Given the description of an element on the screen output the (x, y) to click on. 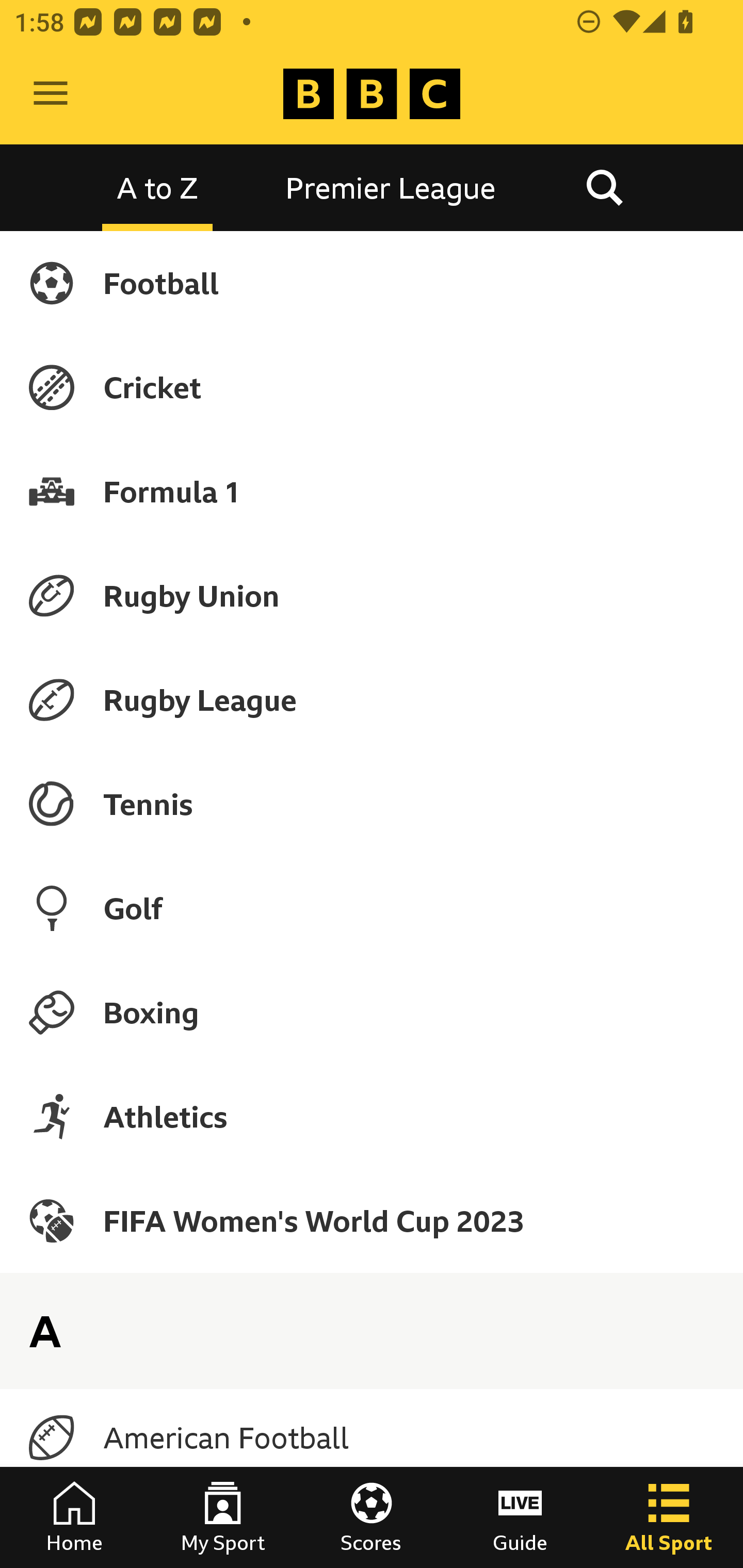
Open Menu (50, 93)
Premier League (390, 187)
Search (604, 187)
Football (371, 282)
Cricket (371, 387)
Formula 1 (371, 491)
Rugby Union (371, 595)
Rugby League (371, 699)
Tennis (371, 804)
Golf (371, 907)
Boxing (371, 1011)
Athletics (371, 1116)
FIFA Women's World Cup 2023 (371, 1220)
American Football (371, 1437)
Home (74, 1517)
My Sport (222, 1517)
Scores (371, 1517)
Guide (519, 1517)
